Given the description of an element on the screen output the (x, y) to click on. 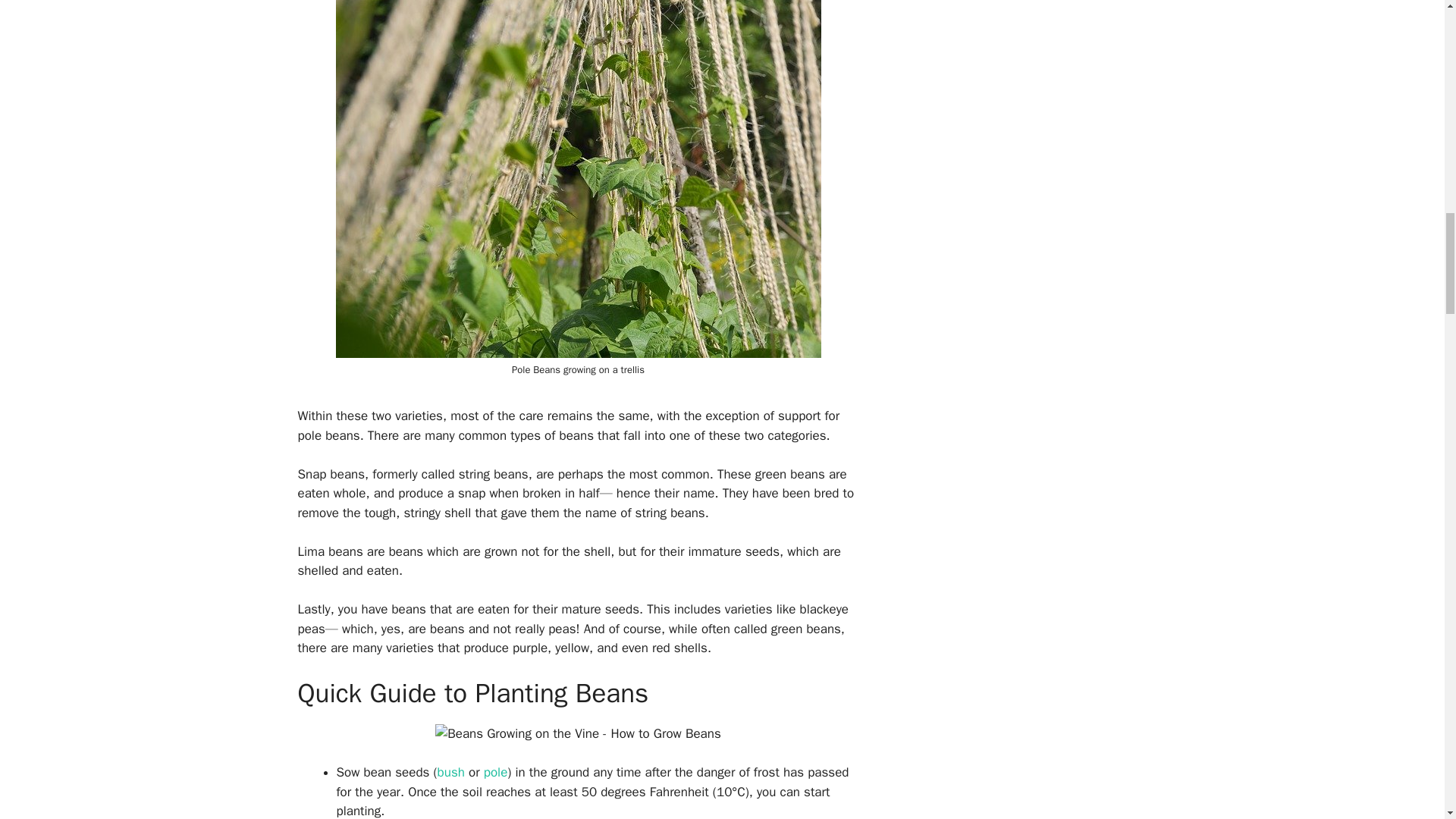
Pole Bean Seeds (495, 772)
Bush Bean Seeds (453, 772)
